Given the description of an element on the screen output the (x, y) to click on. 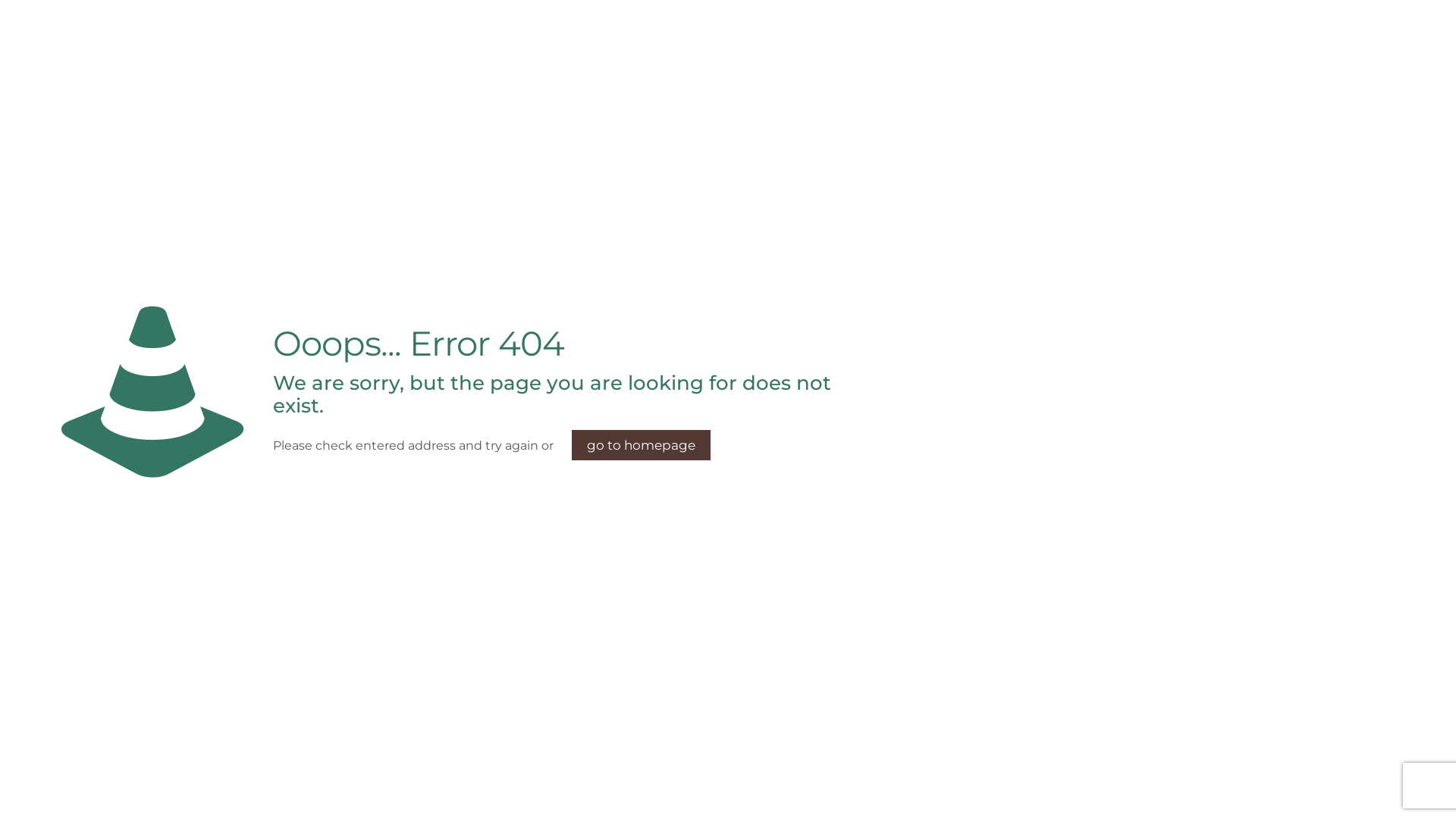
go to homepage Element type: text (640, 444)
